Given the description of an element on the screen output the (x, y) to click on. 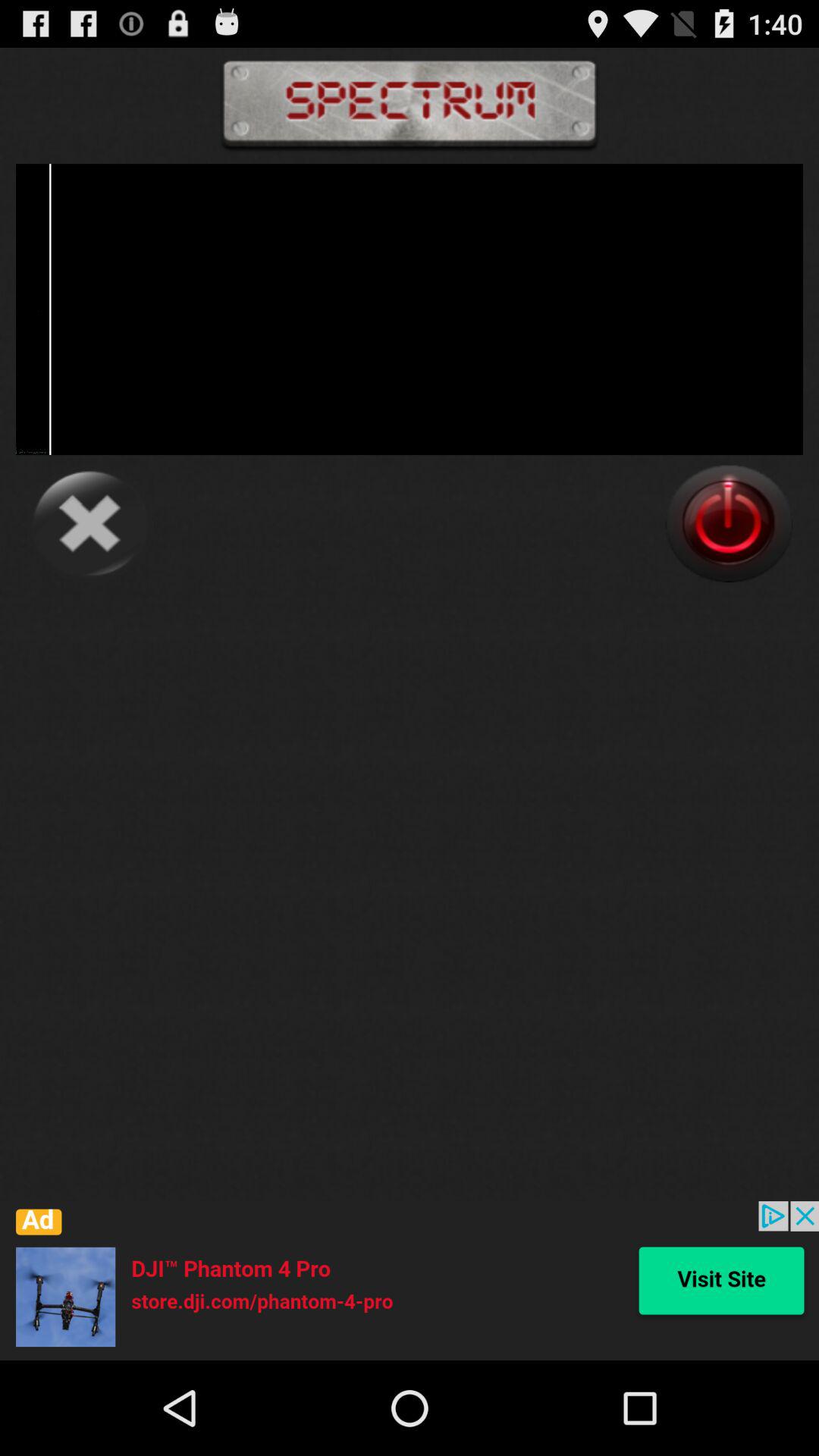
switch off (728, 523)
